Given the description of an element on the screen output the (x, y) to click on. 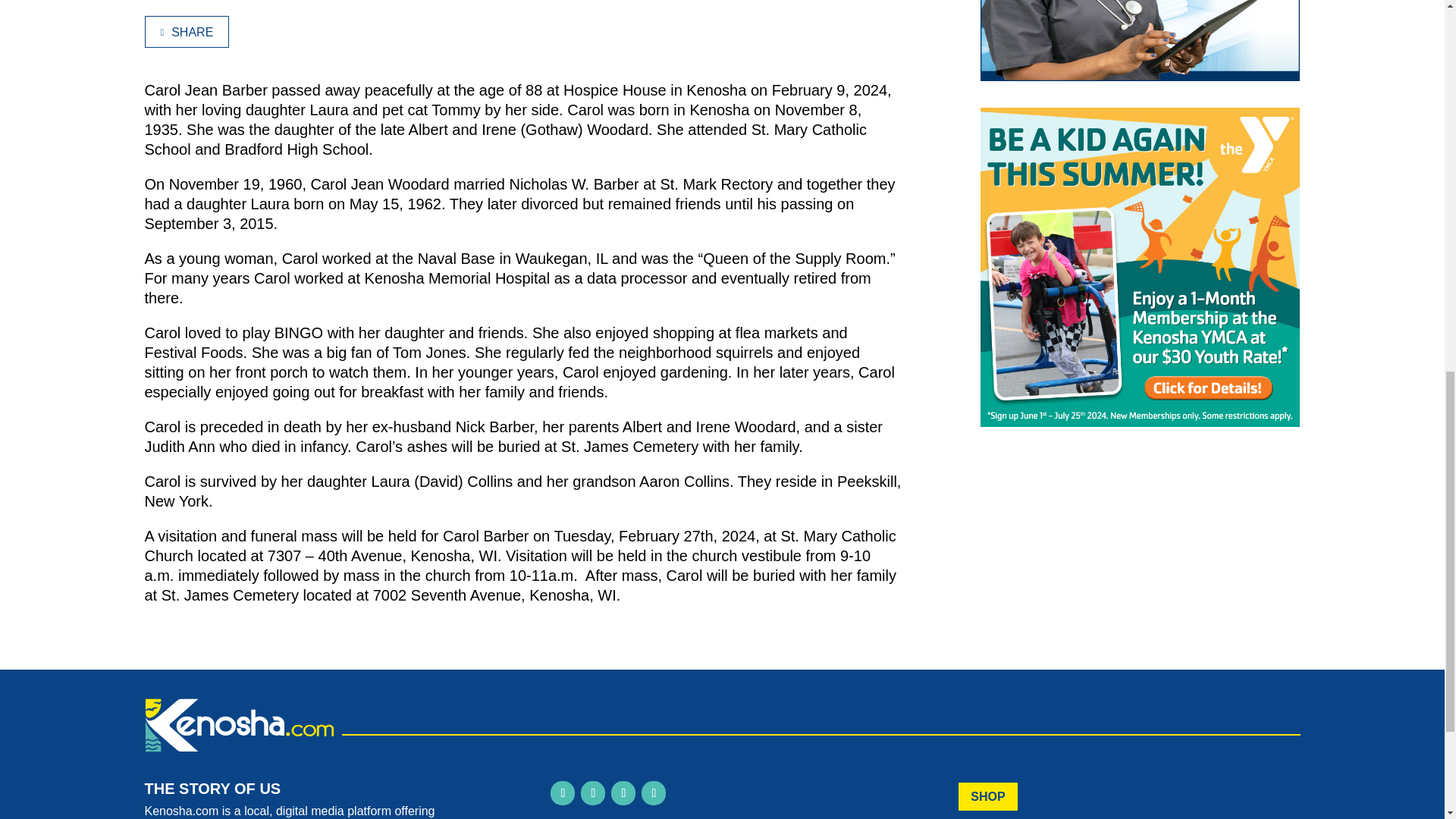
Follow on Instagram (592, 793)
footer-logo (238, 725)
Follow on Facebook (562, 793)
